Given the description of an element on the screen output the (x, y) to click on. 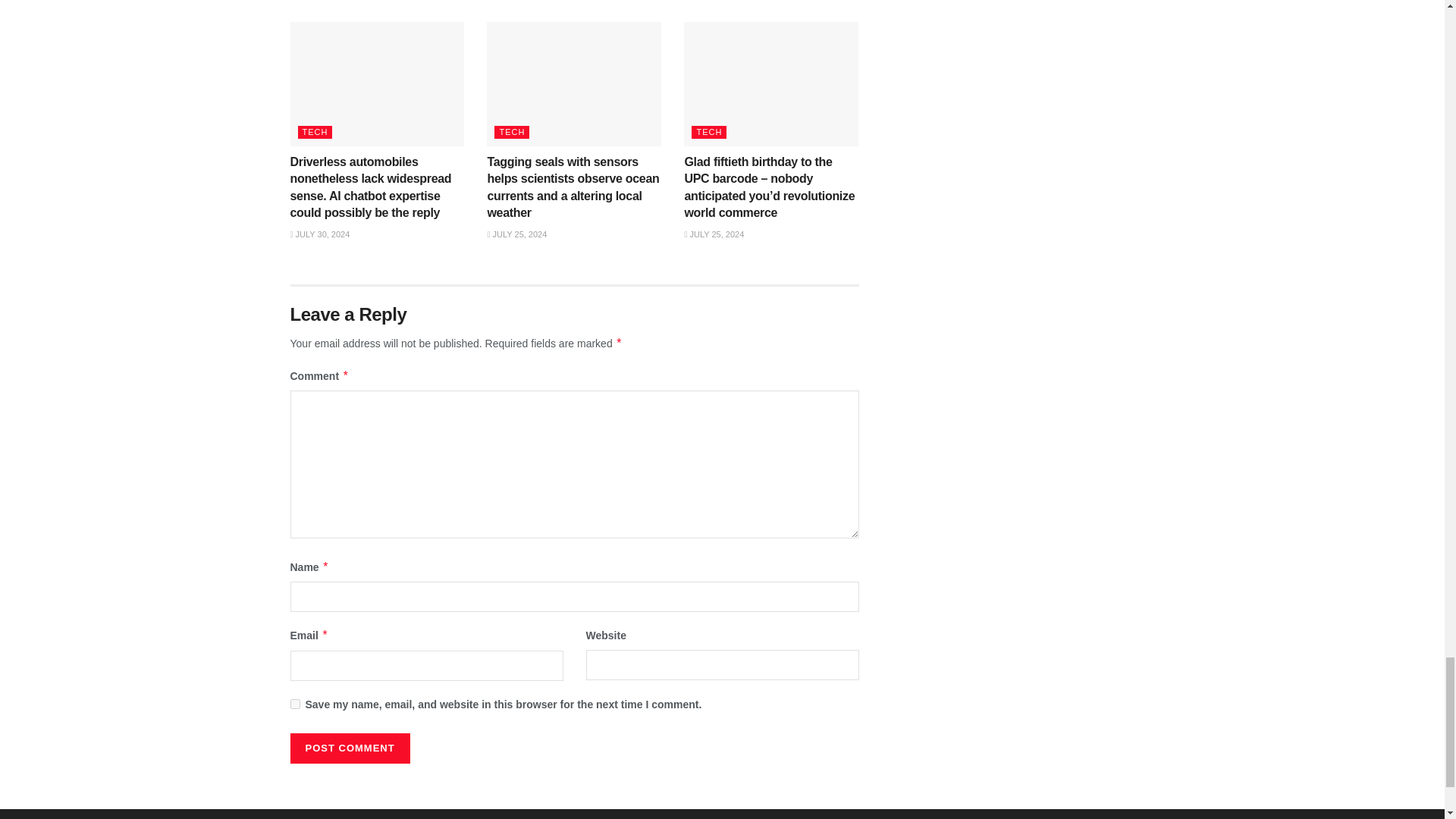
Post Comment (349, 748)
yes (294, 704)
TECH (512, 132)
TECH (314, 132)
JULY 30, 2024 (319, 234)
